Given the description of an element on the screen output the (x, y) to click on. 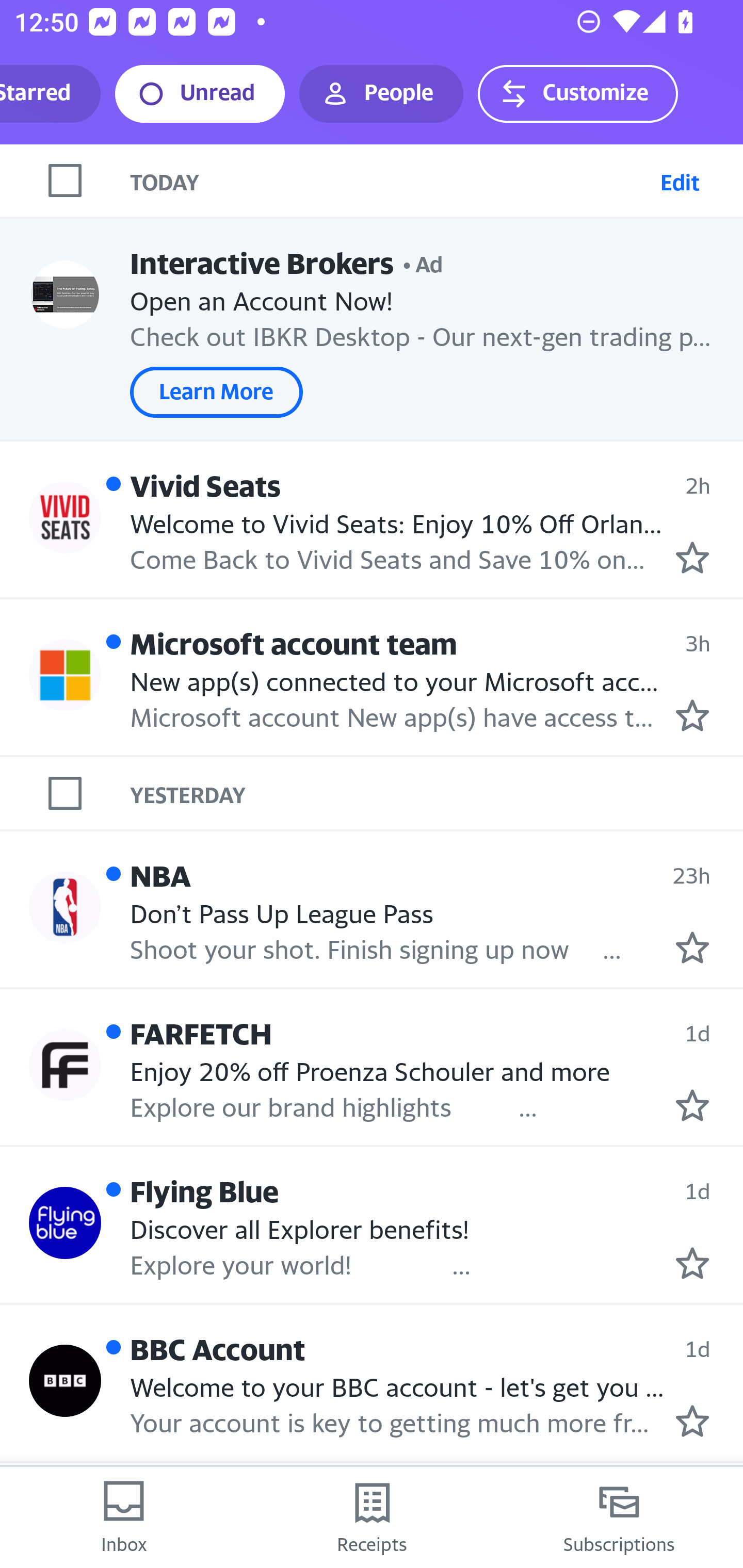
People (381, 93)
Customize (577, 93)
TODAY (391, 180)
Edit Select emails (679, 180)
Profile
Vivid Seats (64, 517)
Mark as starred. (692, 557)
Profile
Microsoft account team (64, 675)
Mark as starred. (692, 715)
YESTERDAY (436, 792)
Profile
NBA (64, 907)
Mark as starred. (692, 947)
Profile
FARFETCH (64, 1064)
Mark as starred. (692, 1104)
Profile
Flying Blue (64, 1222)
Mark as starred. (692, 1262)
Profile
BBC Account (64, 1381)
Mark as starred. (692, 1421)
Inbox (123, 1517)
Receipts (371, 1517)
Subscriptions (619, 1517)
